Given the description of an element on the screen output the (x, y) to click on. 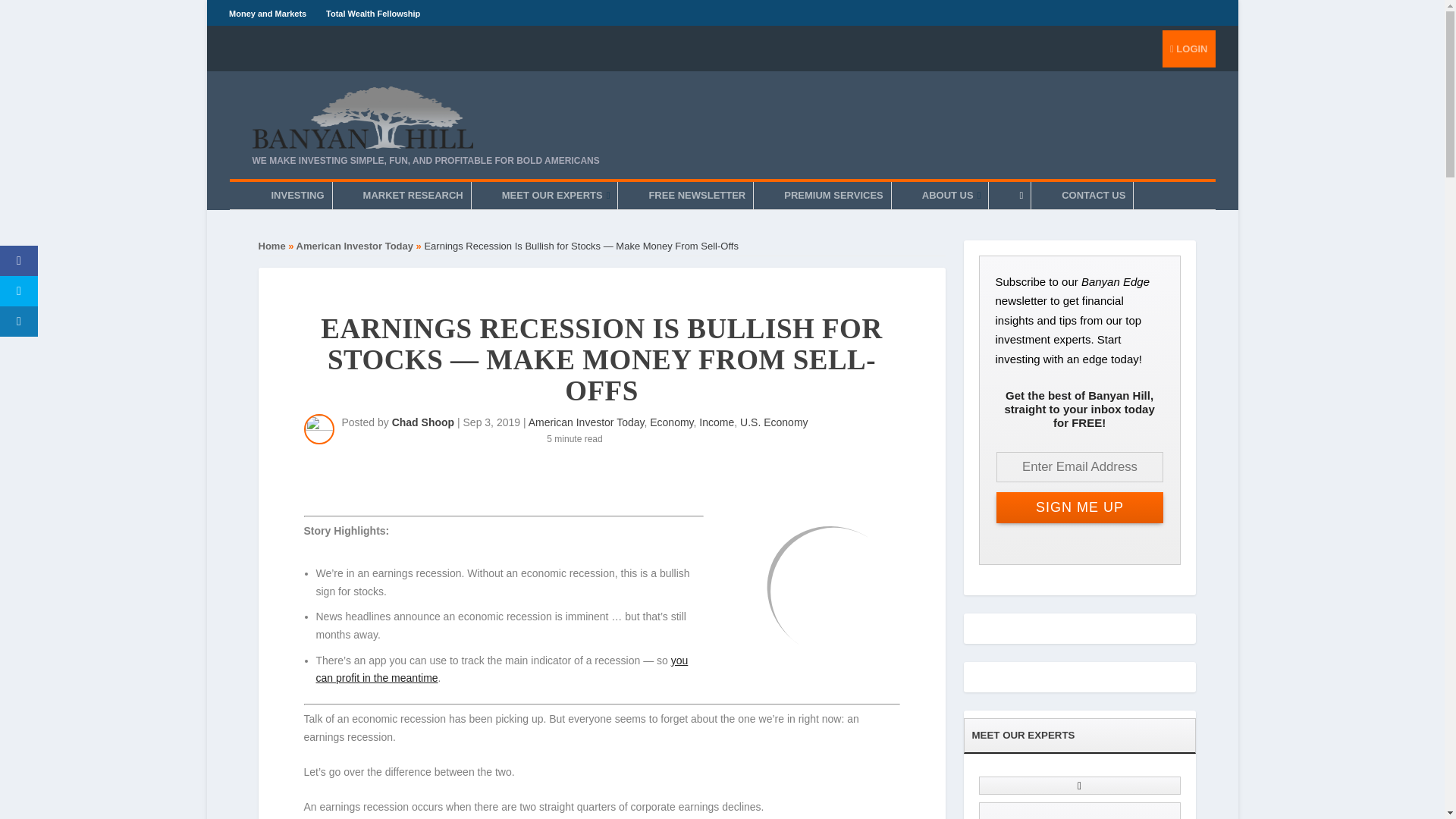
Economy (671, 422)
FREE NEWSLETTER (696, 195)
MARKET RESEARCH (412, 195)
INVESTING (297, 195)
U.S. Economy (773, 422)
Market Research (412, 195)
Money and Markets (266, 13)
American Investor Today (355, 245)
MEET OUR EXPERTS (556, 195)
Income (715, 422)
